Given the description of an element on the screen output the (x, y) to click on. 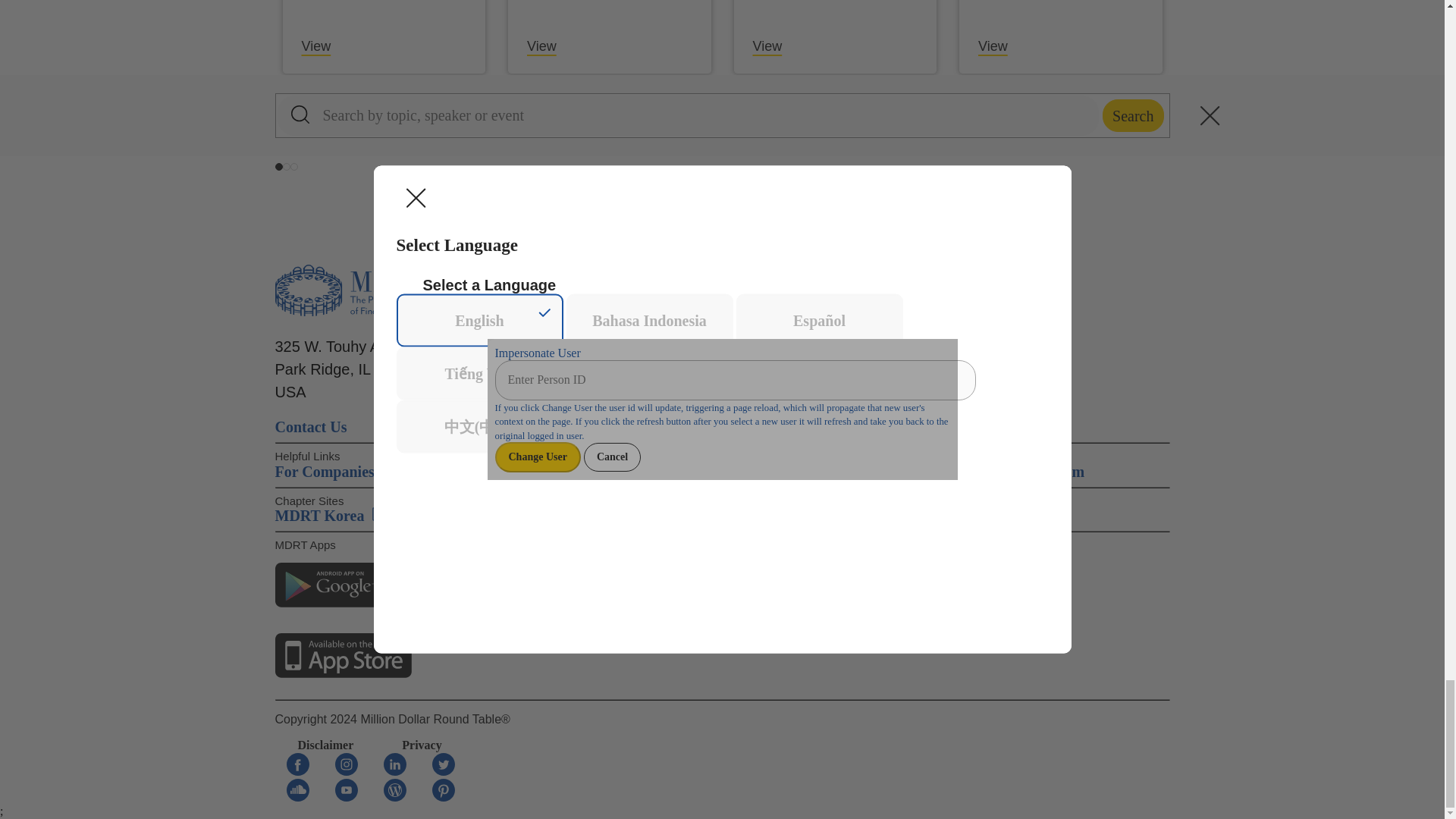
Facebook (297, 771)
